Given the description of an element on the screen output the (x, y) to click on. 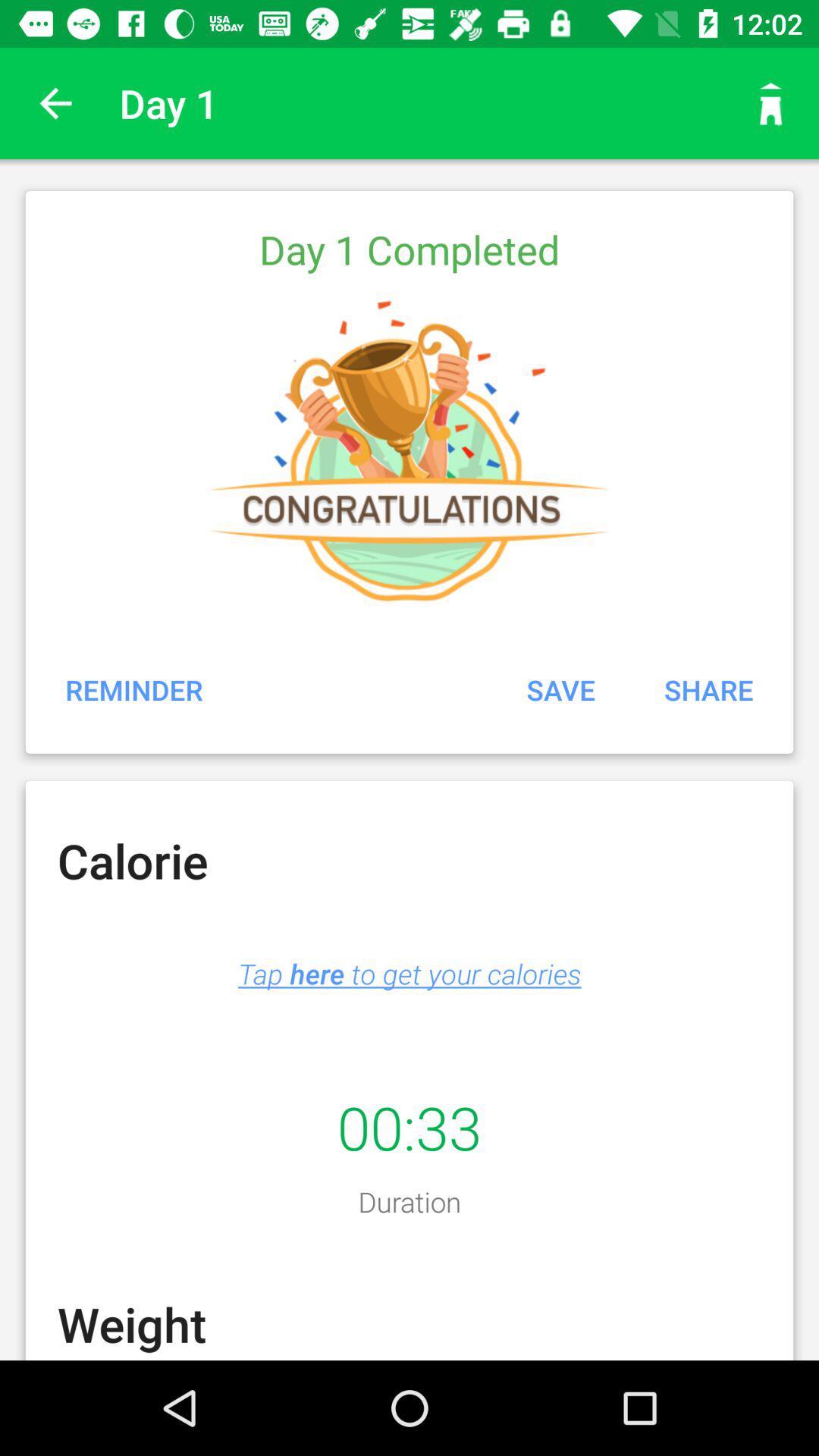
choose save icon (560, 689)
